Given the description of an element on the screen output the (x, y) to click on. 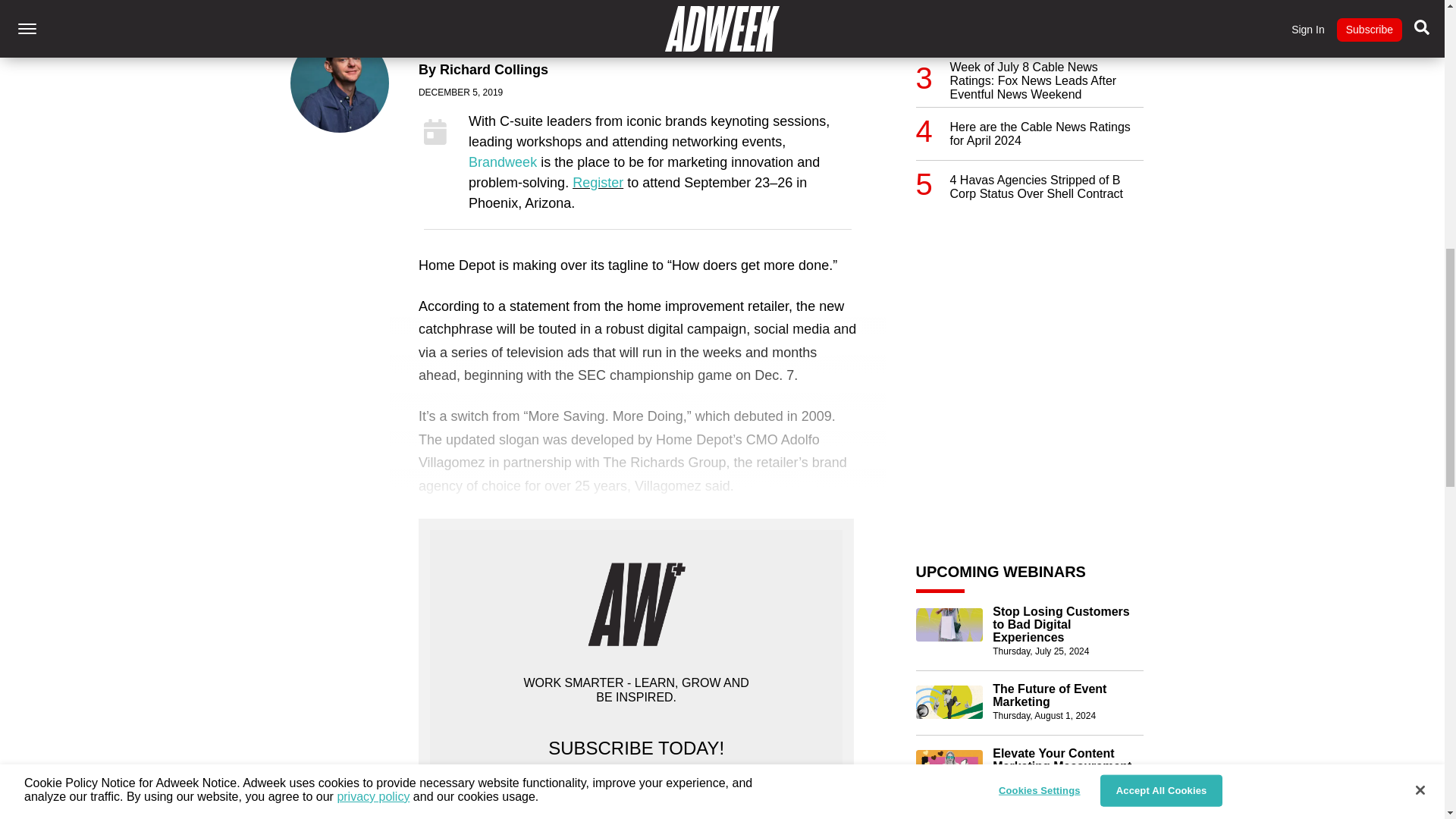
Richard Collings (493, 69)
CventWebinar08012Header (948, 702)
Adobe-Webinar-082224-Header (948, 816)
Register (597, 182)
3rd party ad content (1028, 320)
Richard Collings (339, 83)
Nativo-Webinar-082124-Header (948, 766)
